Given the description of an element on the screen output the (x, y) to click on. 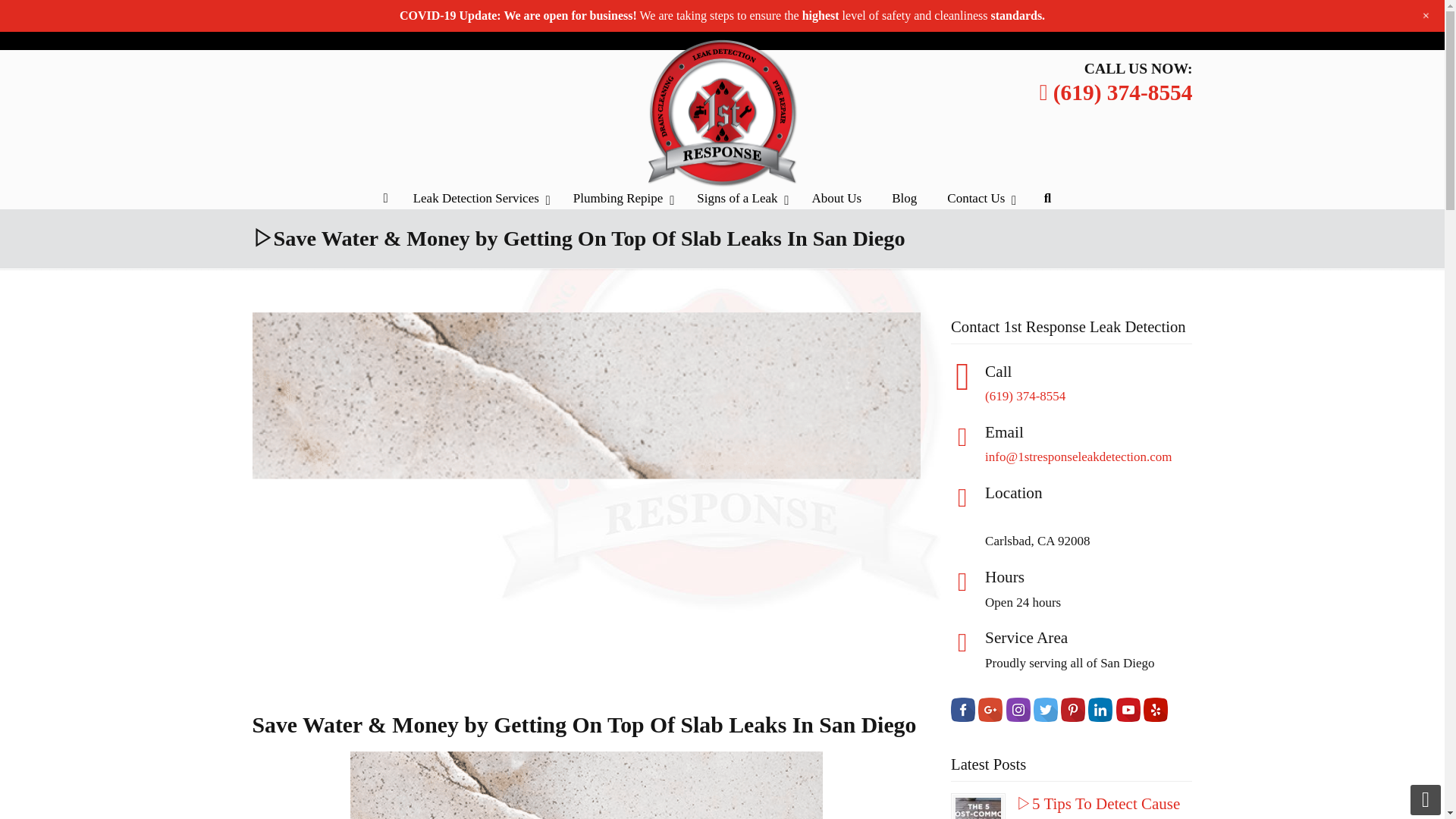
Twitter (1099, 25)
Pinterest (1125, 16)
YouTube (1153, 16)
Yelp (1179, 25)
Google Pages (1044, 16)
Instagram (1071, 25)
Instagram (1071, 16)
Request Service (762, 16)
YouTube (1153, 25)
Twitter (1099, 16)
